Given the description of an element on the screen output the (x, y) to click on. 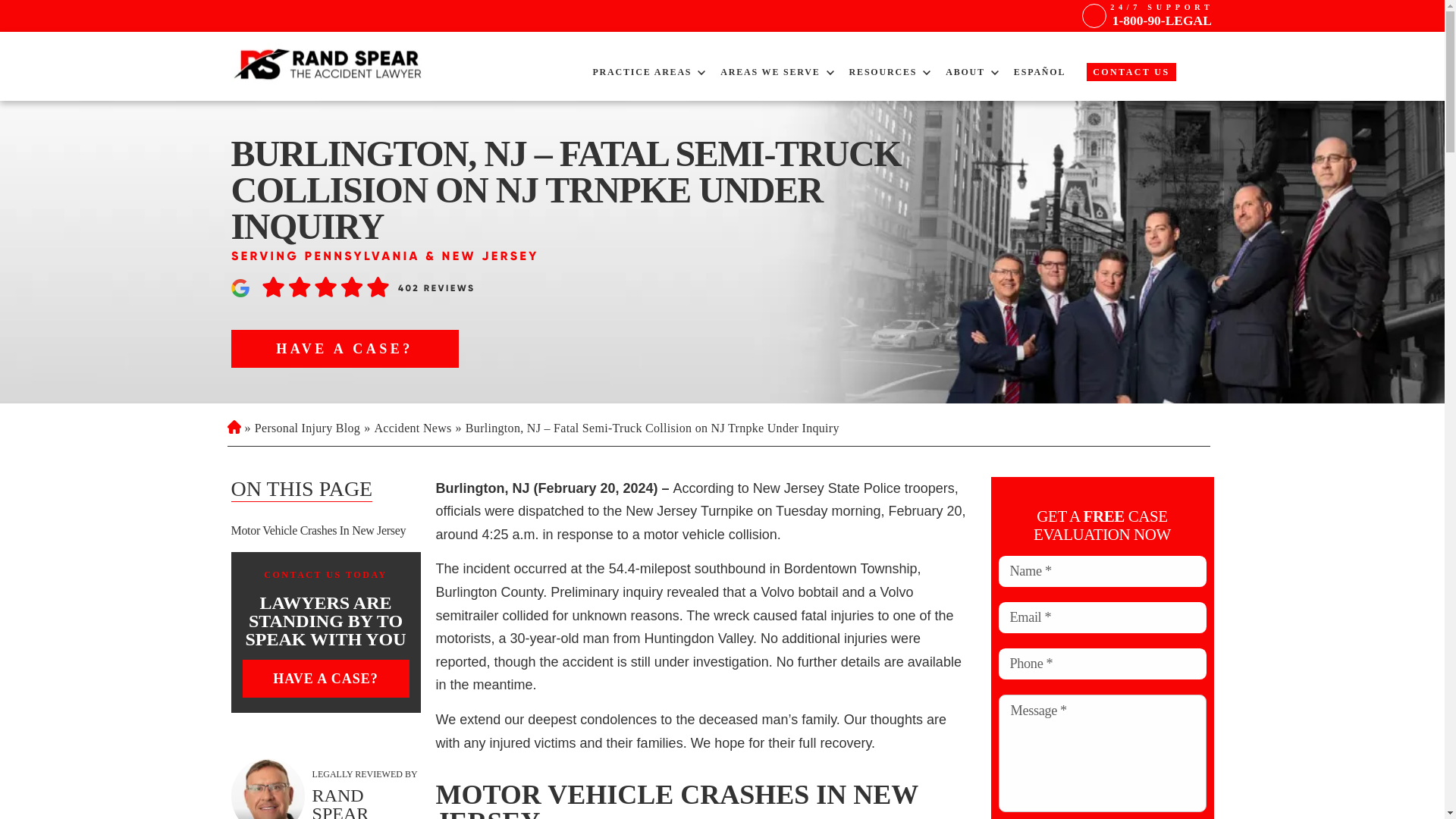
Motor Vehicle Crashes In New Jersey (325, 530)
Rand Spear (329, 64)
HAVE A CASE? (344, 348)
Open Search (1200, 76)
Rand Spear (267, 788)
PRACTICE AREAS (641, 71)
AREAS WE SERVE (769, 71)
Contact Us (1130, 72)
HAVE A CASE? (326, 678)
Call to Rand Spear (1160, 15)
